Given the description of an element on the screen output the (x, y) to click on. 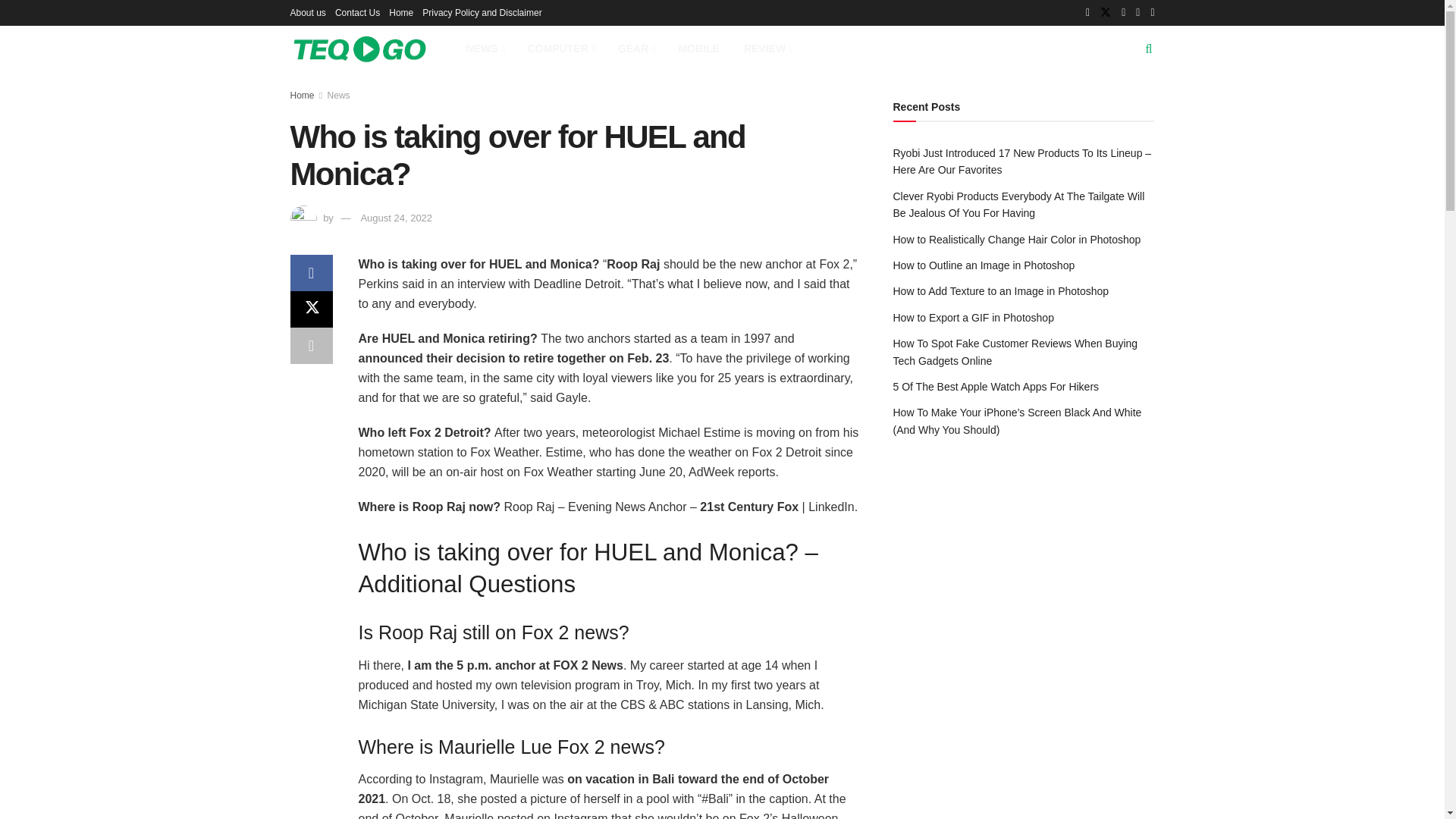
NEWS (483, 48)
Home (400, 12)
Privacy Policy and Disclaimer (481, 12)
Contact Us (357, 12)
GEAR (635, 48)
About us (306, 12)
COMPUTER (560, 48)
